Given the description of an element on the screen output the (x, y) to click on. 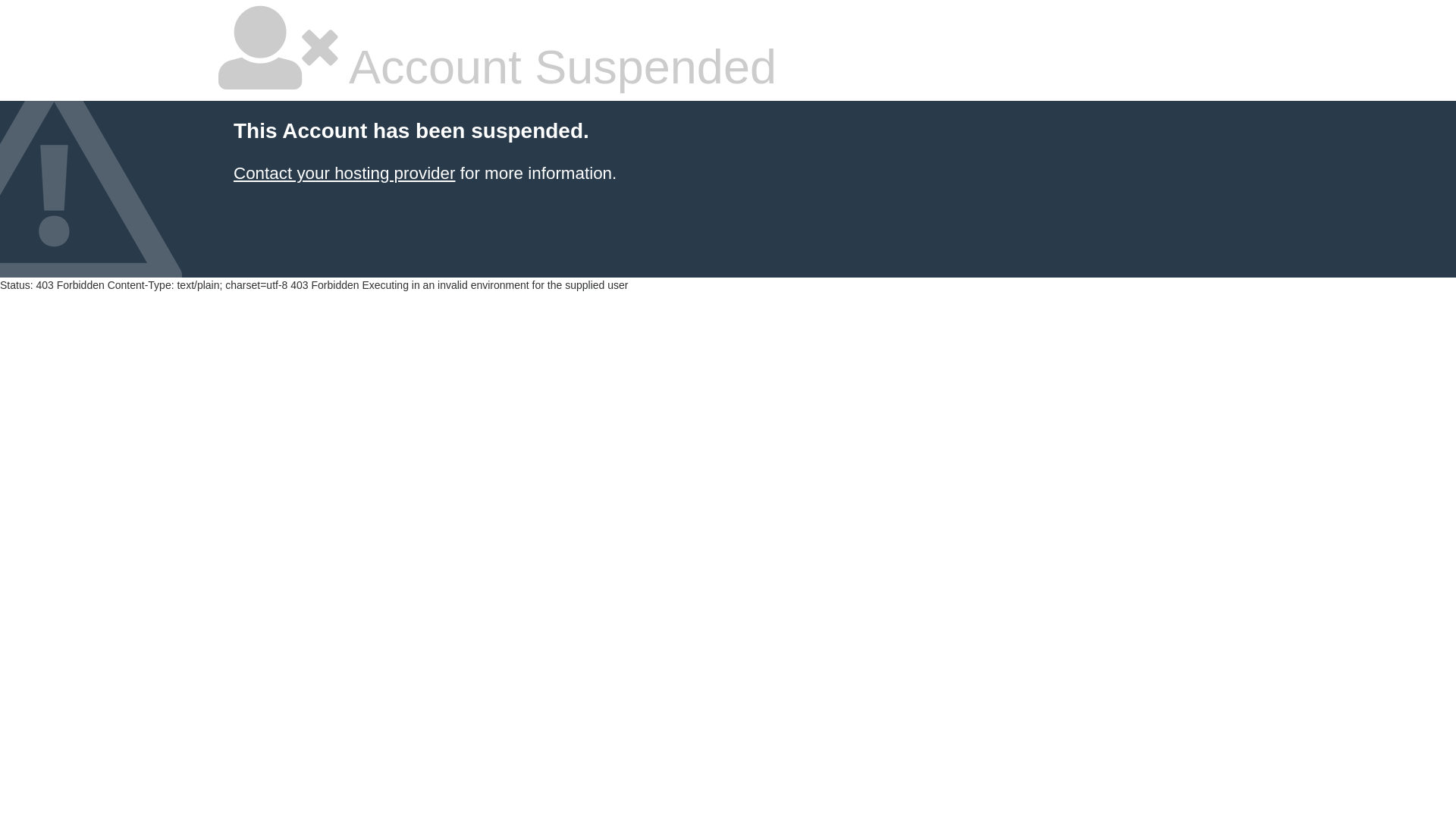
Contact your hosting provider Element type: text (344, 172)
